Given the description of an element on the screen output the (x, y) to click on. 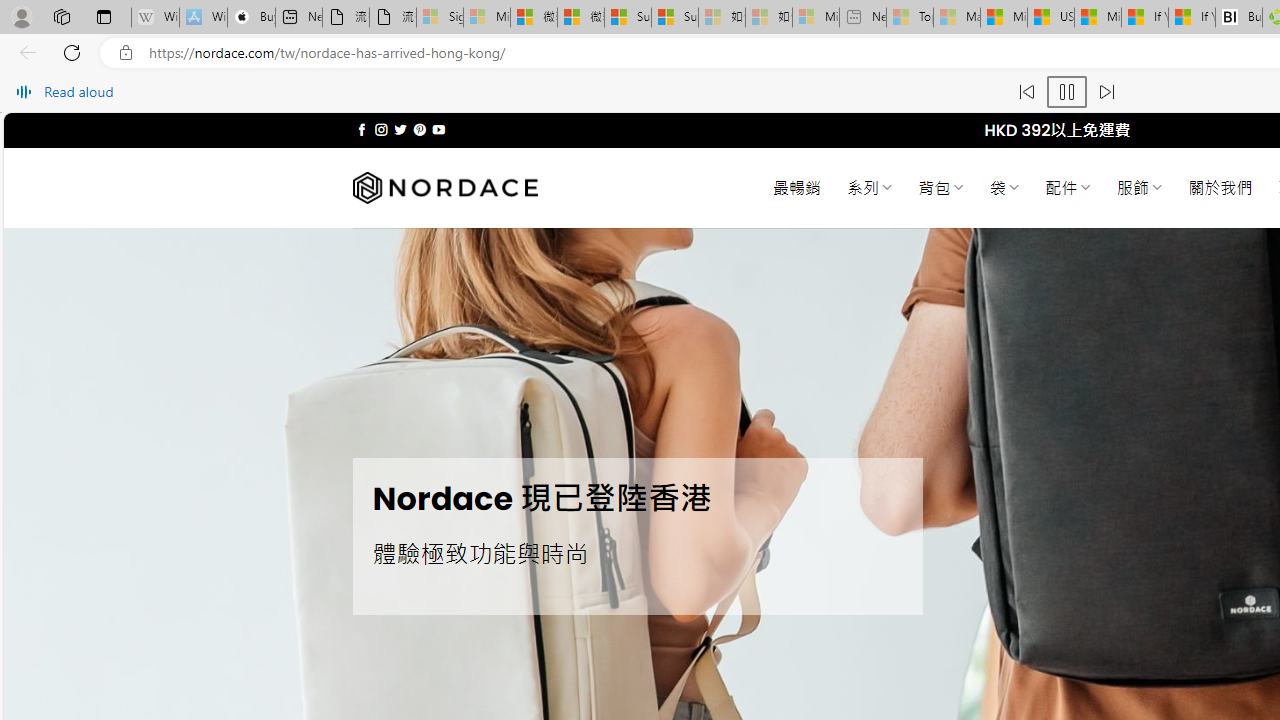
Marine life - MSN - Sleeping (957, 17)
Read next paragraph (1105, 92)
